Given the description of an element on the screen output the (x, y) to click on. 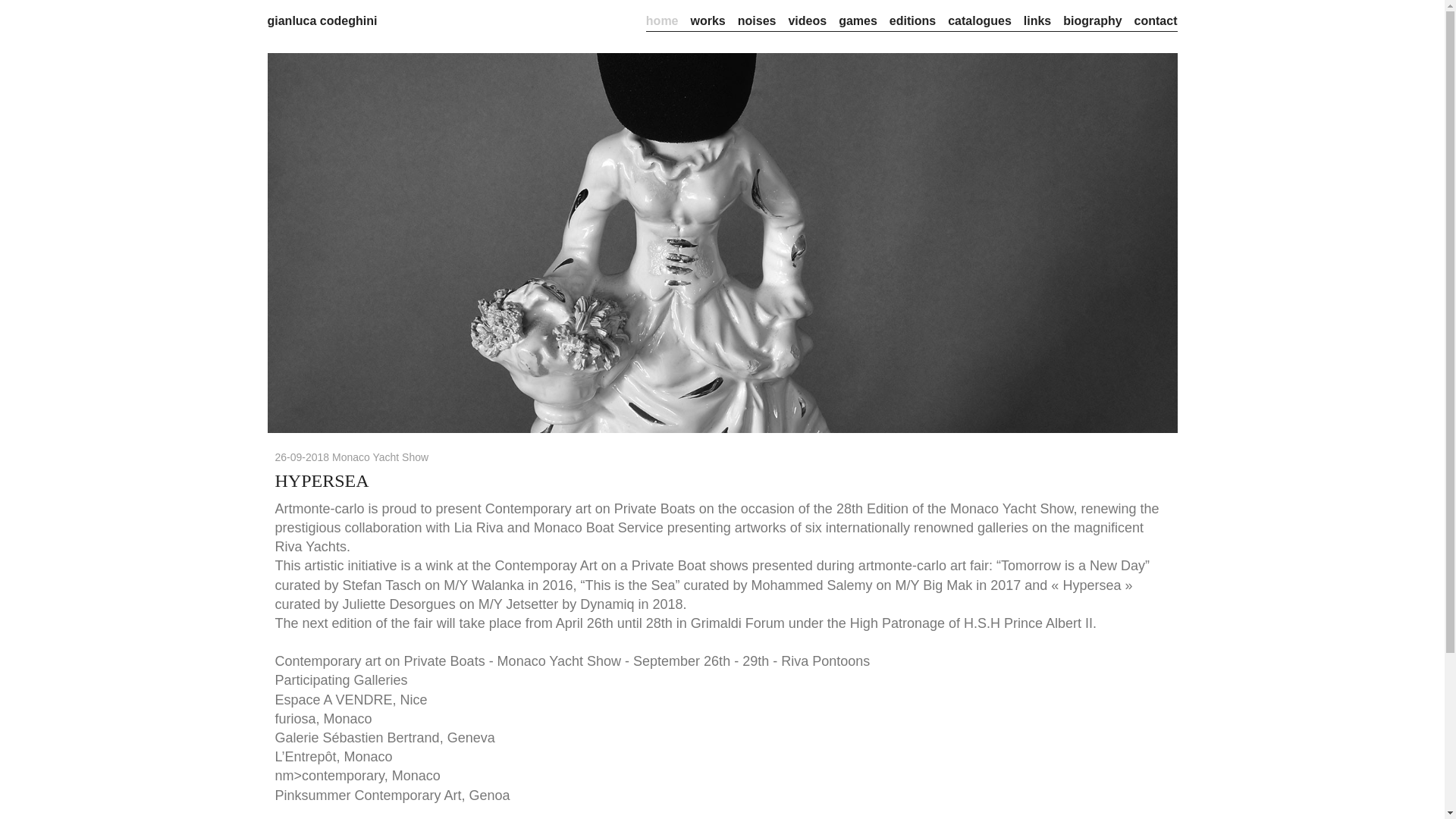
catalogues (979, 20)
home (662, 20)
videos (807, 20)
noises (757, 20)
links (1037, 20)
works (707, 20)
biography (1091, 20)
contact (1155, 20)
games (857, 20)
editions (912, 20)
